Given the description of an element on the screen output the (x, y) to click on. 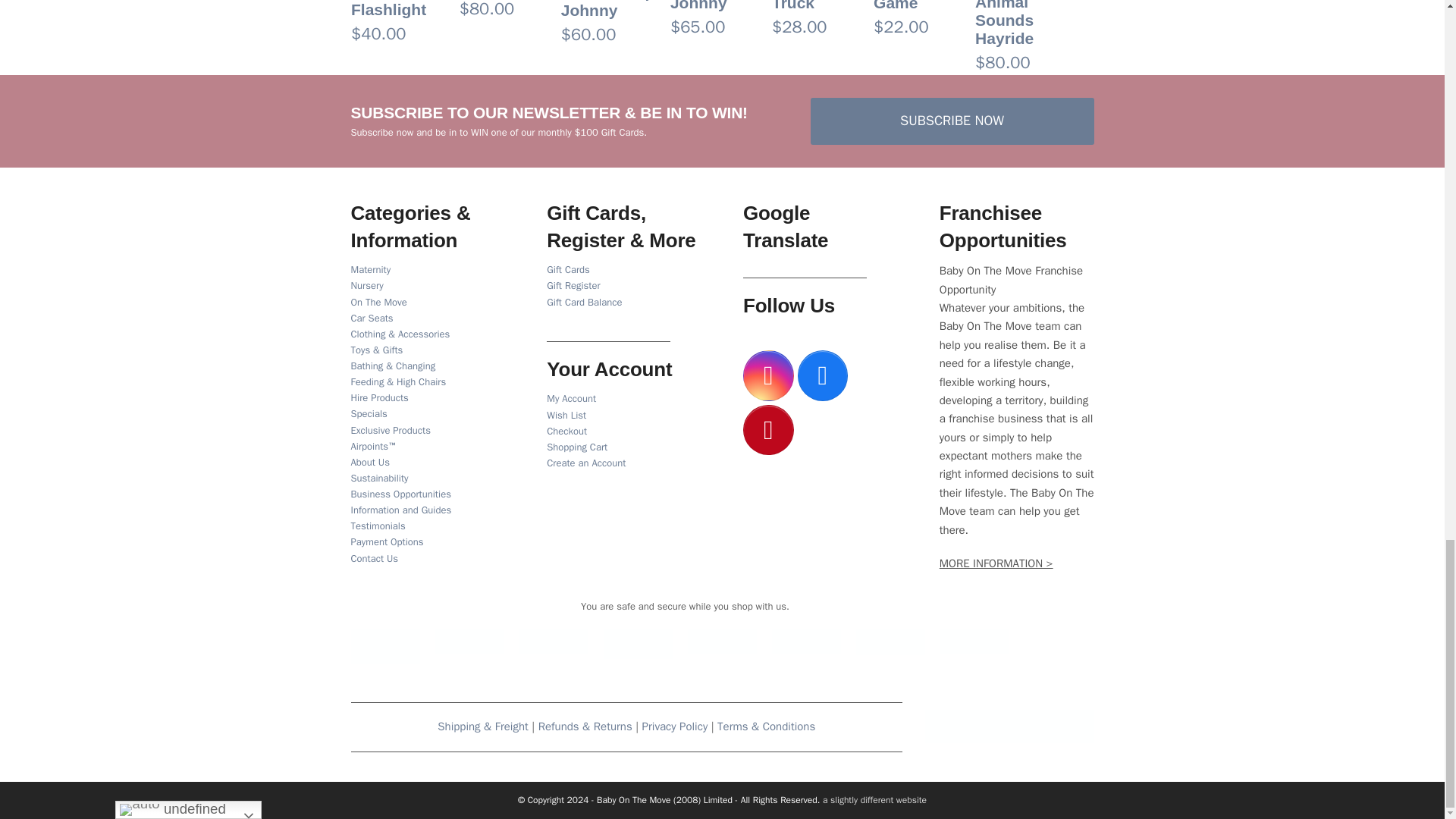
Sign up to newsletter (951, 120)
